Given the description of an element on the screen output the (x, y) to click on. 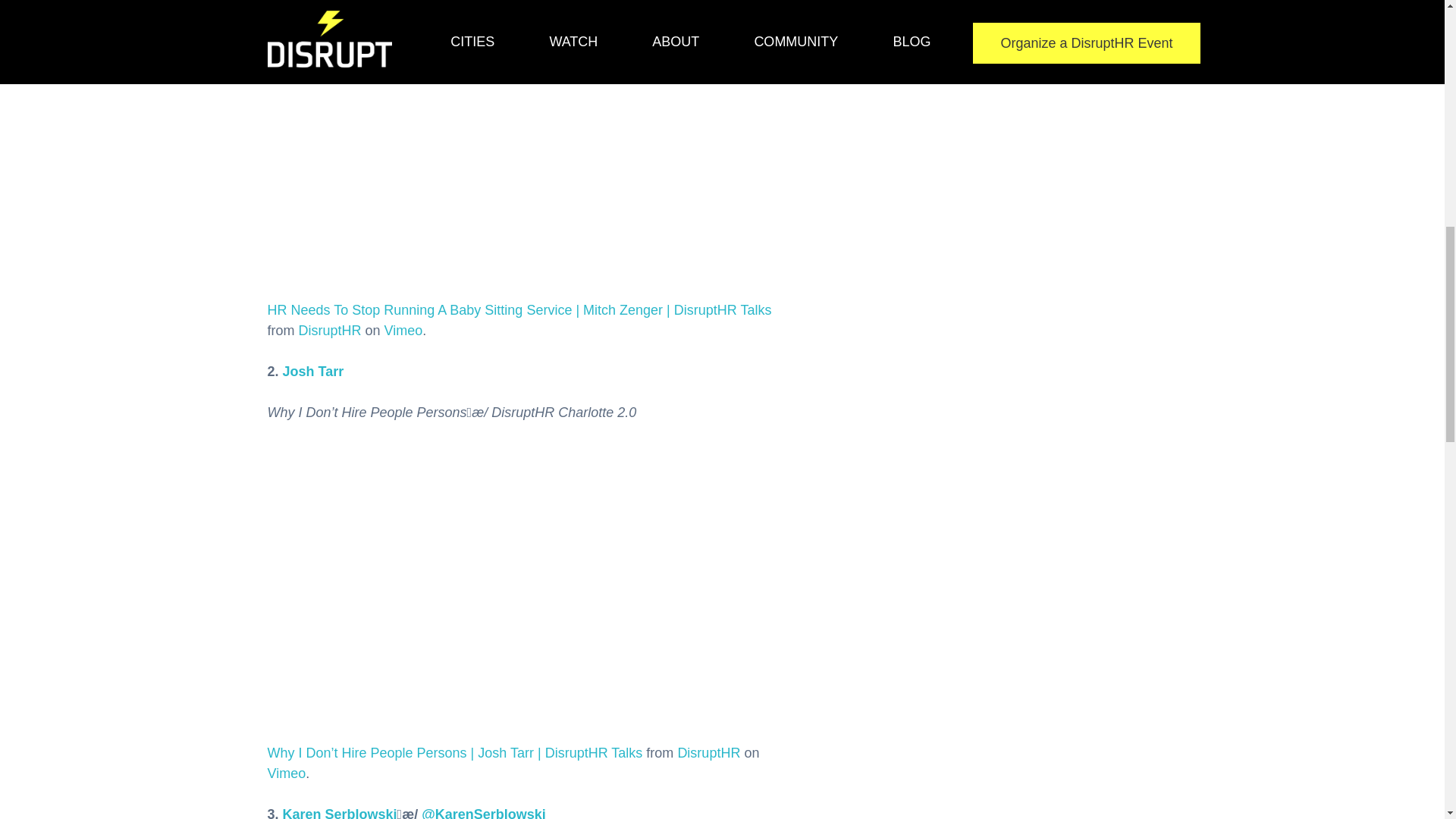
DisruptHR (329, 330)
Vimeo (403, 330)
Josh Tarr (312, 371)
DisruptHR (708, 752)
Karen Serblowski (339, 812)
Vimeo (285, 773)
